Given the description of an element on the screen output the (x, y) to click on. 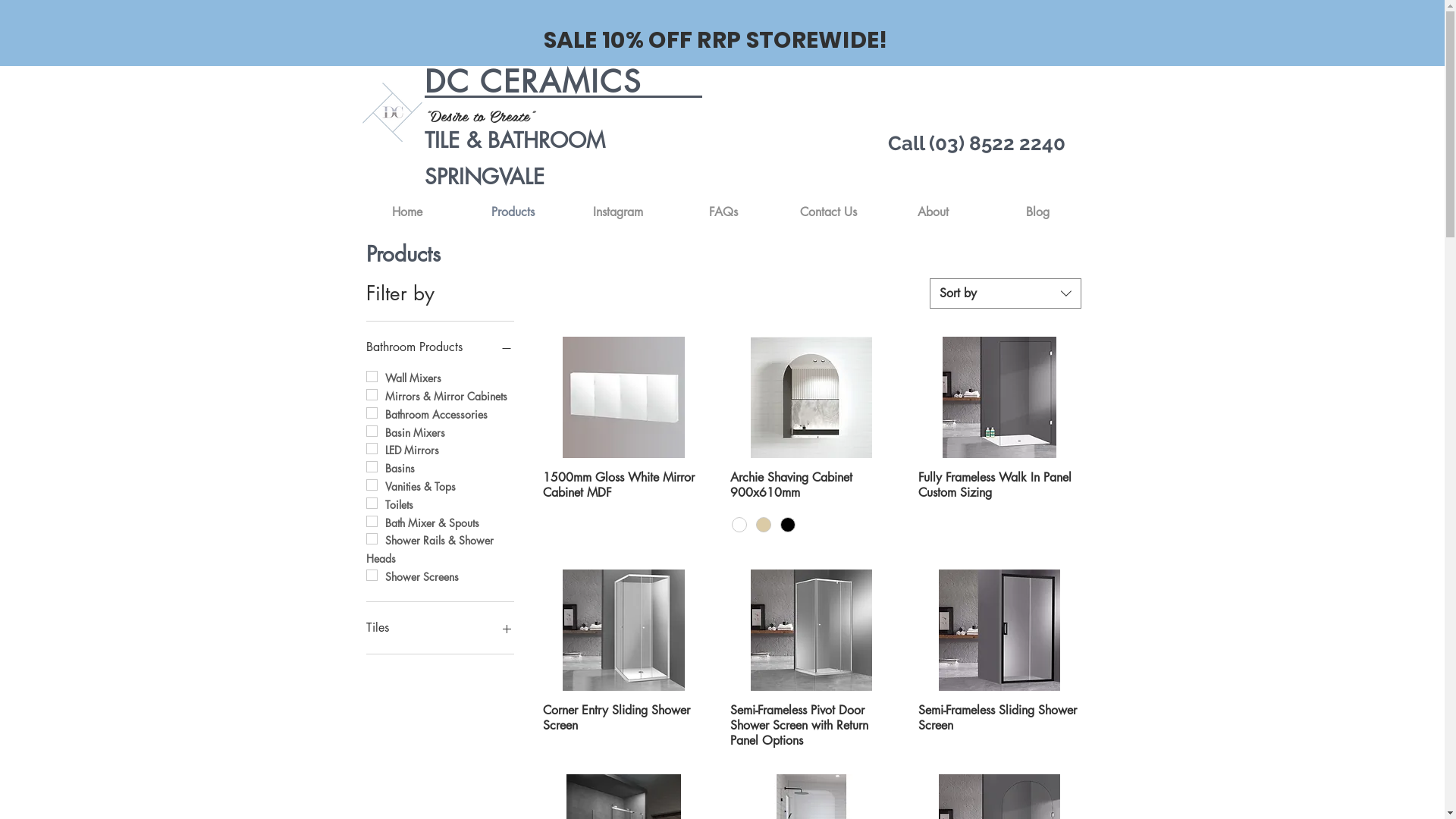
DC CERAMICS Element type: text (532, 81)
Home Element type: text (407, 211)
Blog Element type: text (1037, 211)
Products Element type: text (511, 211)
SPRINGVALE Element type: text (484, 176)
Sort by Element type: text (1005, 293)
Fully Frameless Walk In Panel Custom Sizing Element type: text (999, 506)
Corner Entry Sliding Shower Screen Element type: text (623, 725)
Semi-Frameless Sliding Shower Screen Element type: text (999, 725)
About Element type: text (933, 211)
1500mm Gloss White Mirror Cabinet MDF Element type: text (623, 506)
Contact Us Element type: text (828, 211)
Archie Shaving Cabinet 900x610mm Element type: text (811, 485)
Tiles Element type: text (439, 627)
FAQs Element type: text (722, 211)
Bathroom Products Element type: text (439, 346)
TILE & BATHROOM Element type: text (514, 139)
Instagram Element type: text (618, 211)
Call (03) 8522 2240 Element type: text (975, 142)
